Given the description of an element on the screen output the (x, y) to click on. 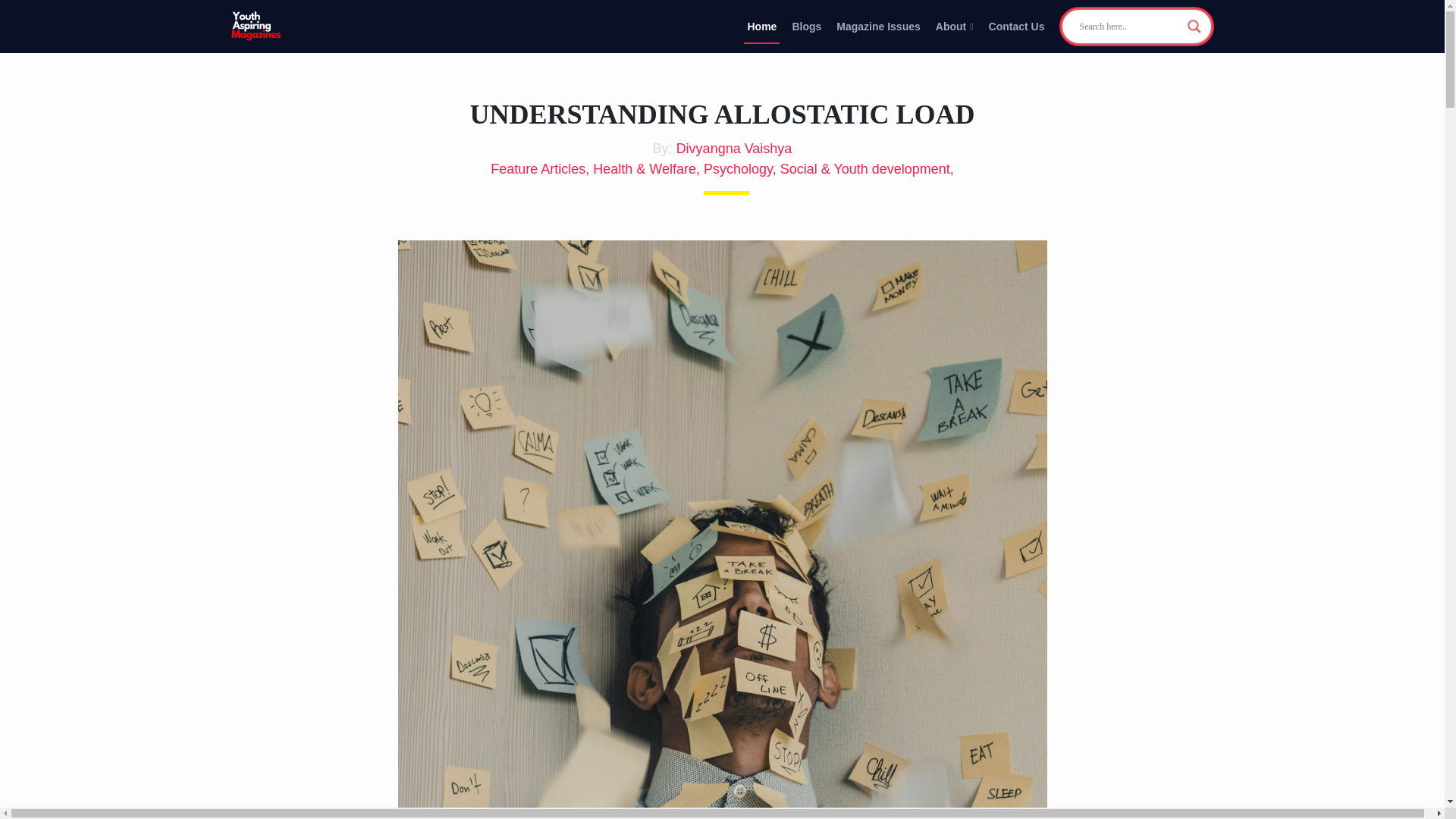
Psychology, (741, 168)
Blogs (806, 25)
Home (761, 25)
Home (761, 25)
Contact Us (1016, 25)
Magazine Issues (877, 25)
About (954, 25)
Posts by Divyangna Vaishya (734, 148)
Youth Aspiring Magazine (256, 26)
Feature Articles, (541, 168)
